Given the description of an element on the screen output the (x, y) to click on. 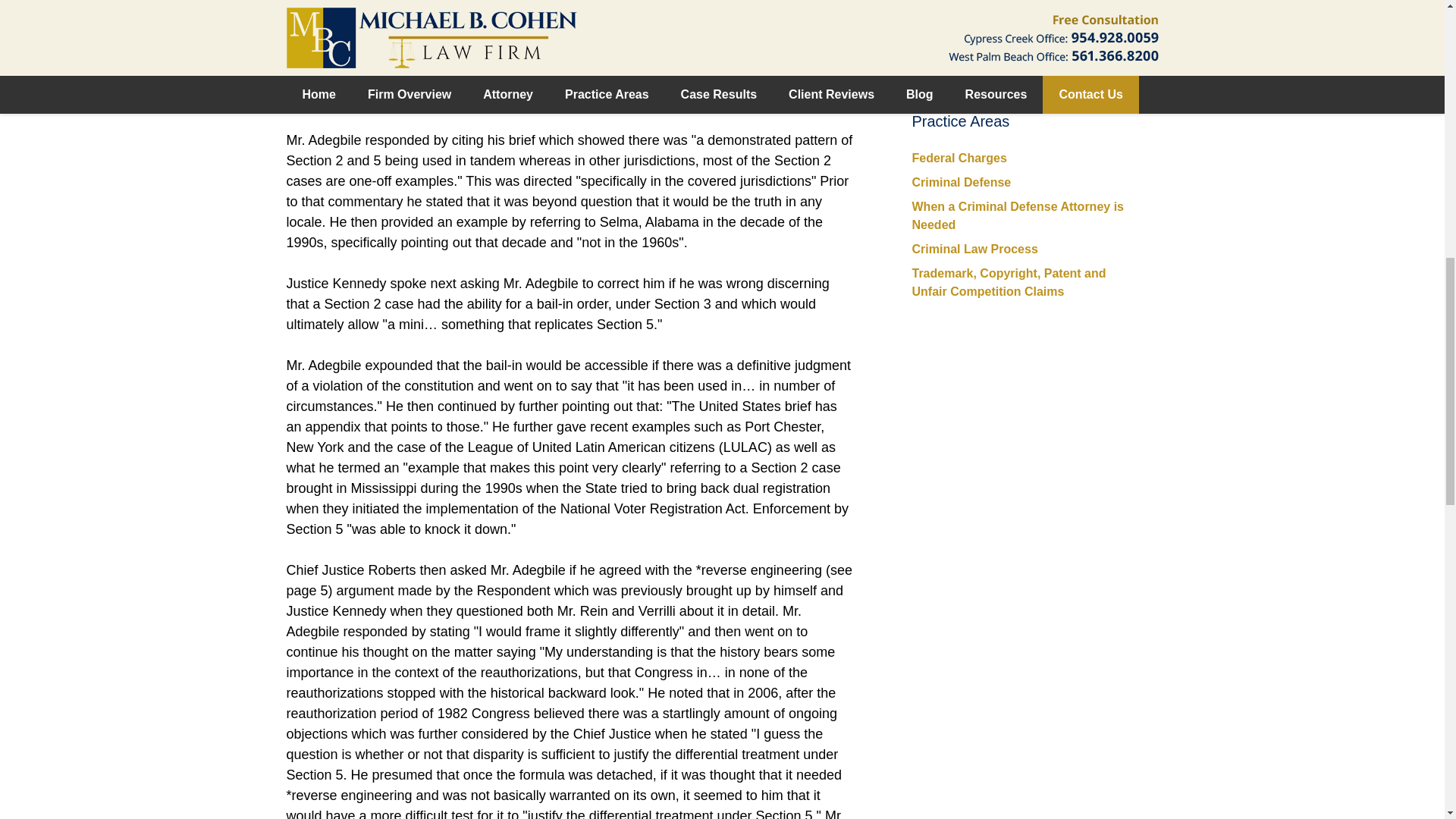
Federal Charges (958, 157)
CONTACT US NOW (1024, 34)
Criminal Law Process (973, 248)
Trademark, Copyright, Patent and Unfair Competition Claims (1008, 282)
Criminal Defense (960, 182)
When a Criminal Defense Attorney is Needed (1016, 214)
Practice Areas (960, 121)
